Given the description of an element on the screen output the (x, y) to click on. 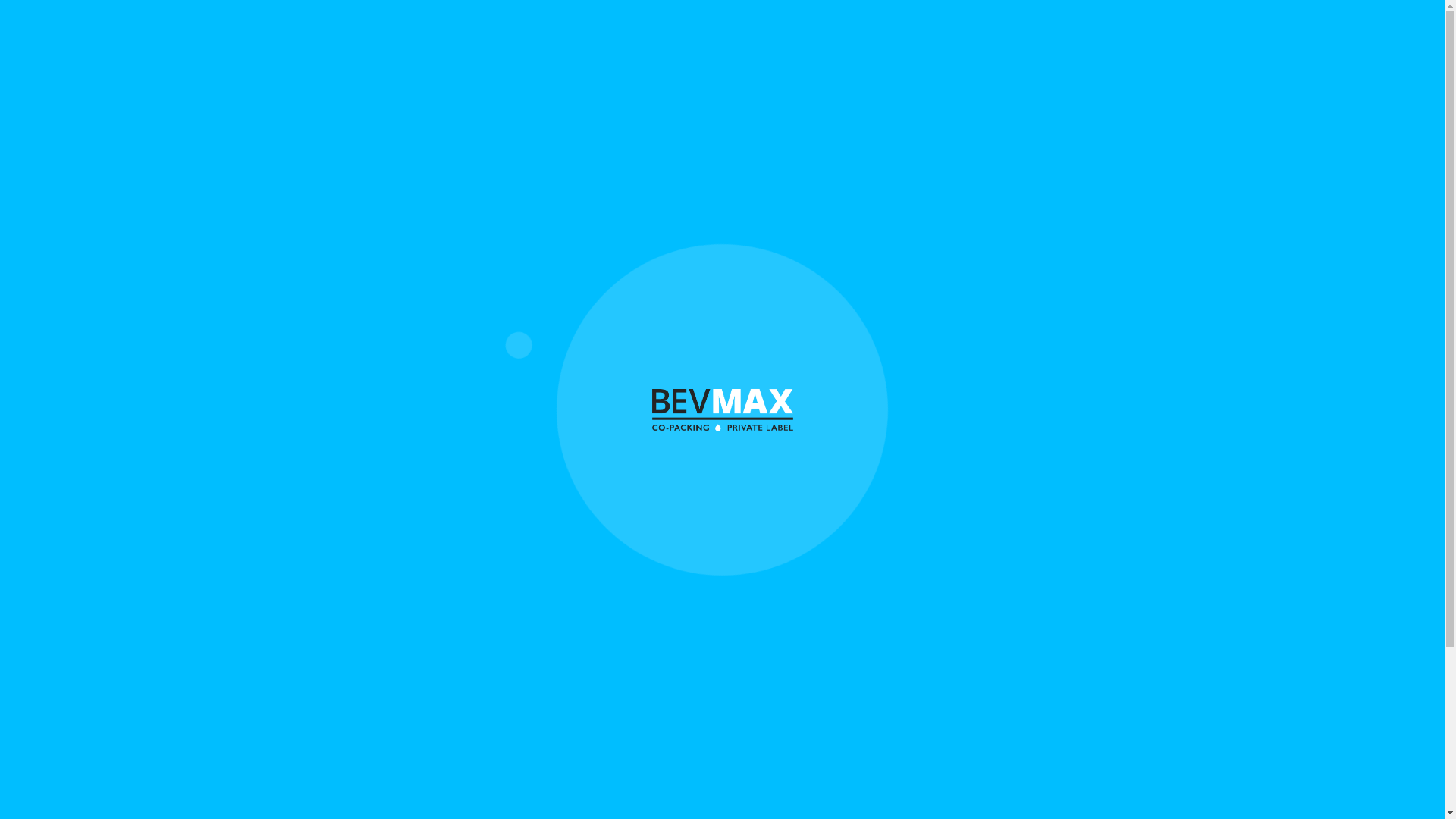
WHAT WE DO Element type: text (889, 30)
HOME Element type: text (787, 30)
BevMax Element type: hover (720, 409)
CONTACT Element type: text (1136, 30)
BevMax Element type: hover (339, 36)
MARKETPLACE Element type: text (1017, 30)
